Given the description of an element on the screen output the (x, y) to click on. 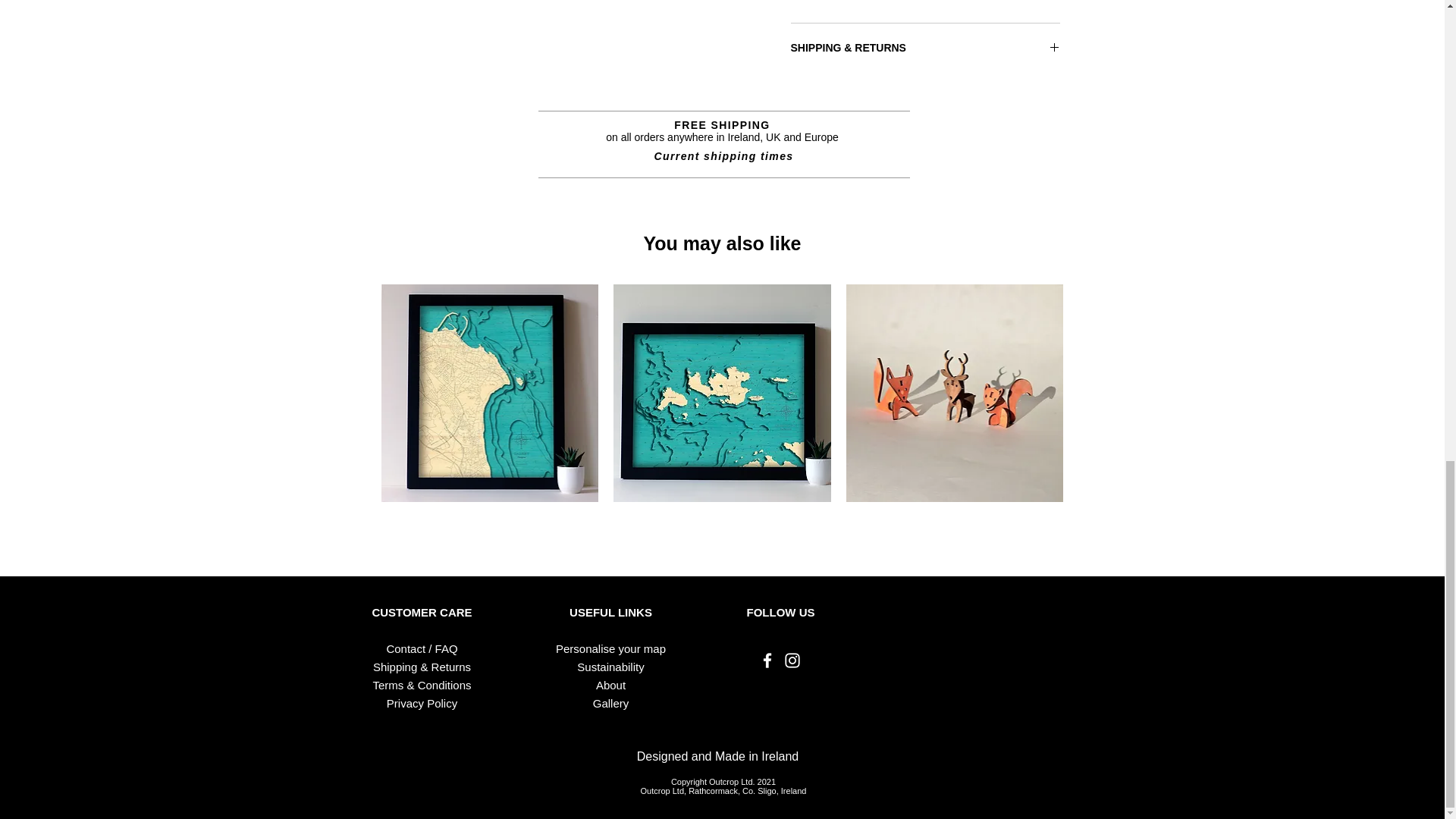
Current shipping times (723, 155)
FREE SHIPPING (722, 124)
SPECS (924, 2)
